Given the description of an element on the screen output the (x, y) to click on. 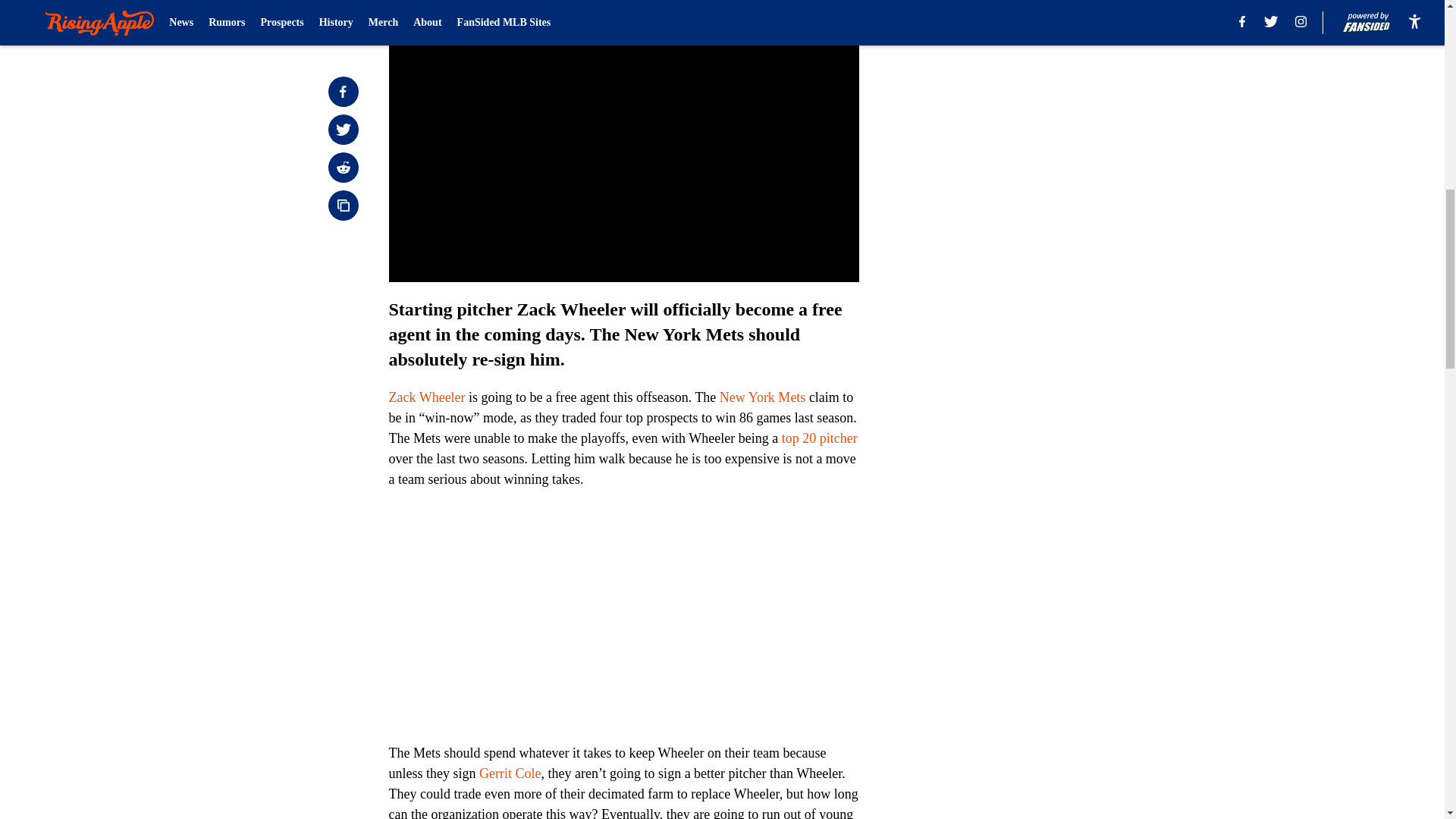
Zack Wheeler (426, 396)
3rd party ad content (1047, 113)
top 20 pitcher (819, 437)
New York Mets (762, 396)
Gerrit Cole (509, 773)
3rd party ad content (1047, 332)
